Given the description of an element on the screen output the (x, y) to click on. 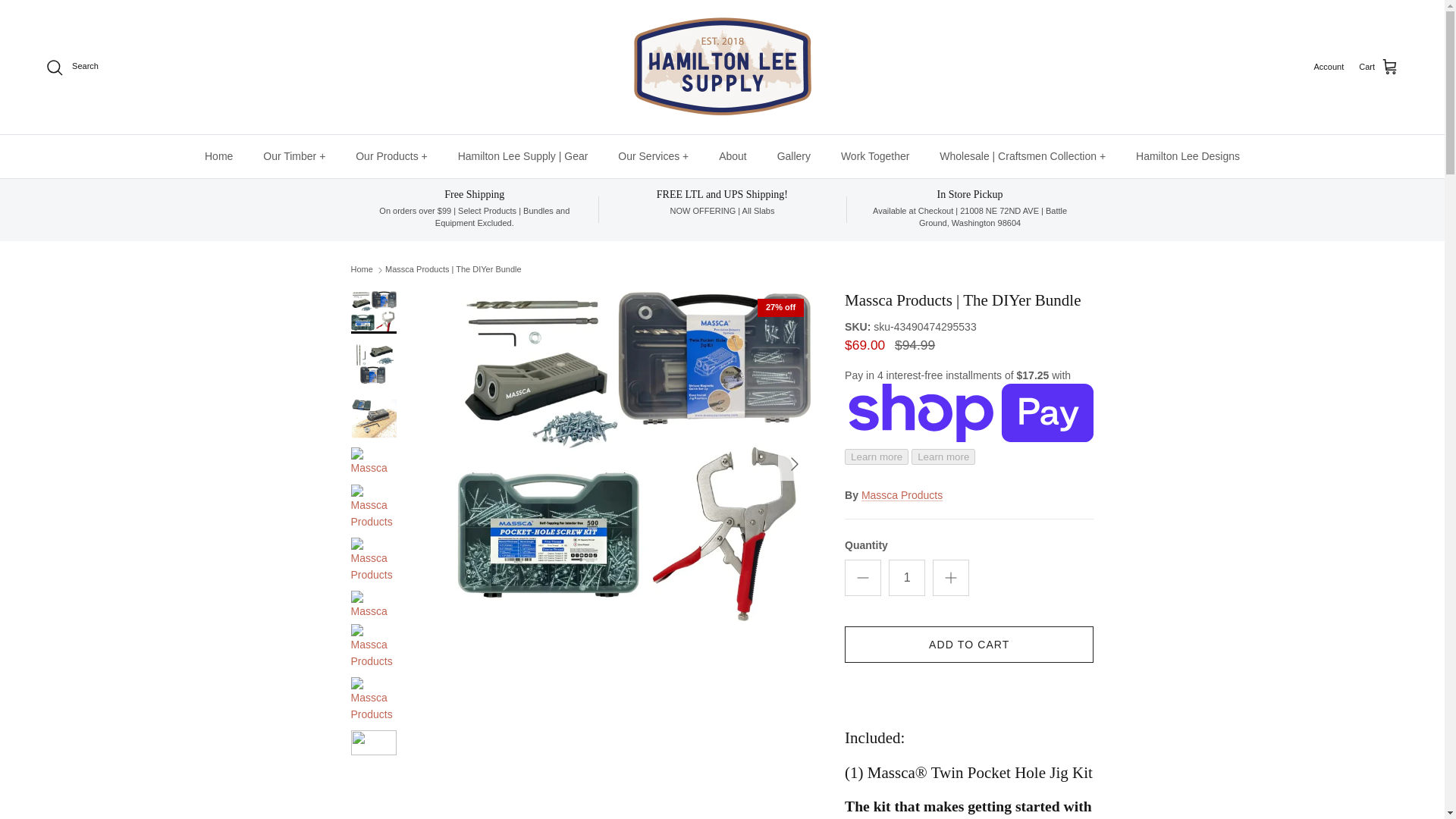
Account (1328, 67)
Home (218, 156)
Hamilton Lee Supply (721, 66)
Cart (1378, 66)
Search (72, 66)
1 (906, 577)
